Given the description of an element on the screen output the (x, y) to click on. 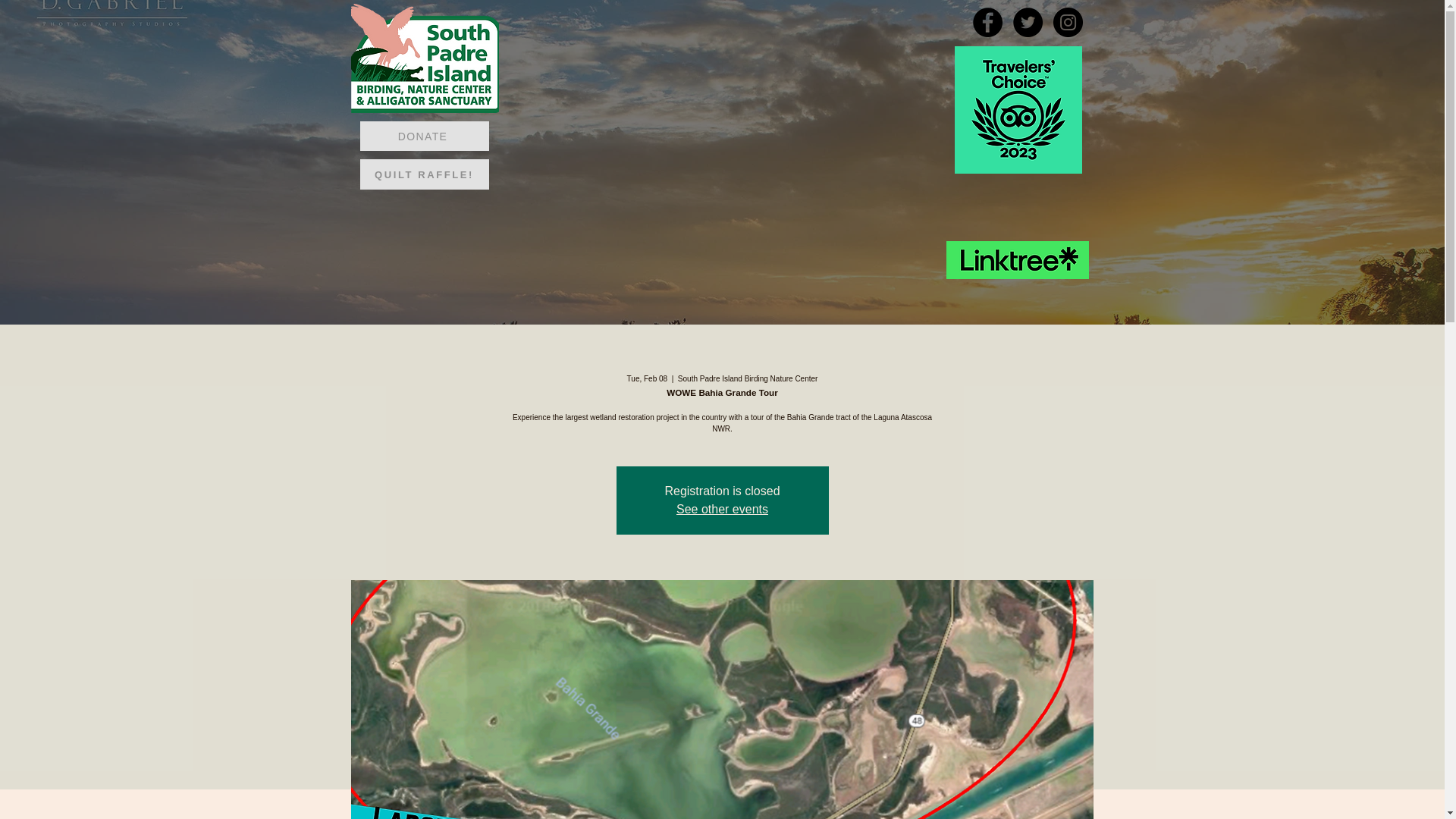
DONATE (423, 135)
QUILT RAFFLE! (423, 173)
See other events (722, 508)
